Given the description of an element on the screen output the (x, y) to click on. 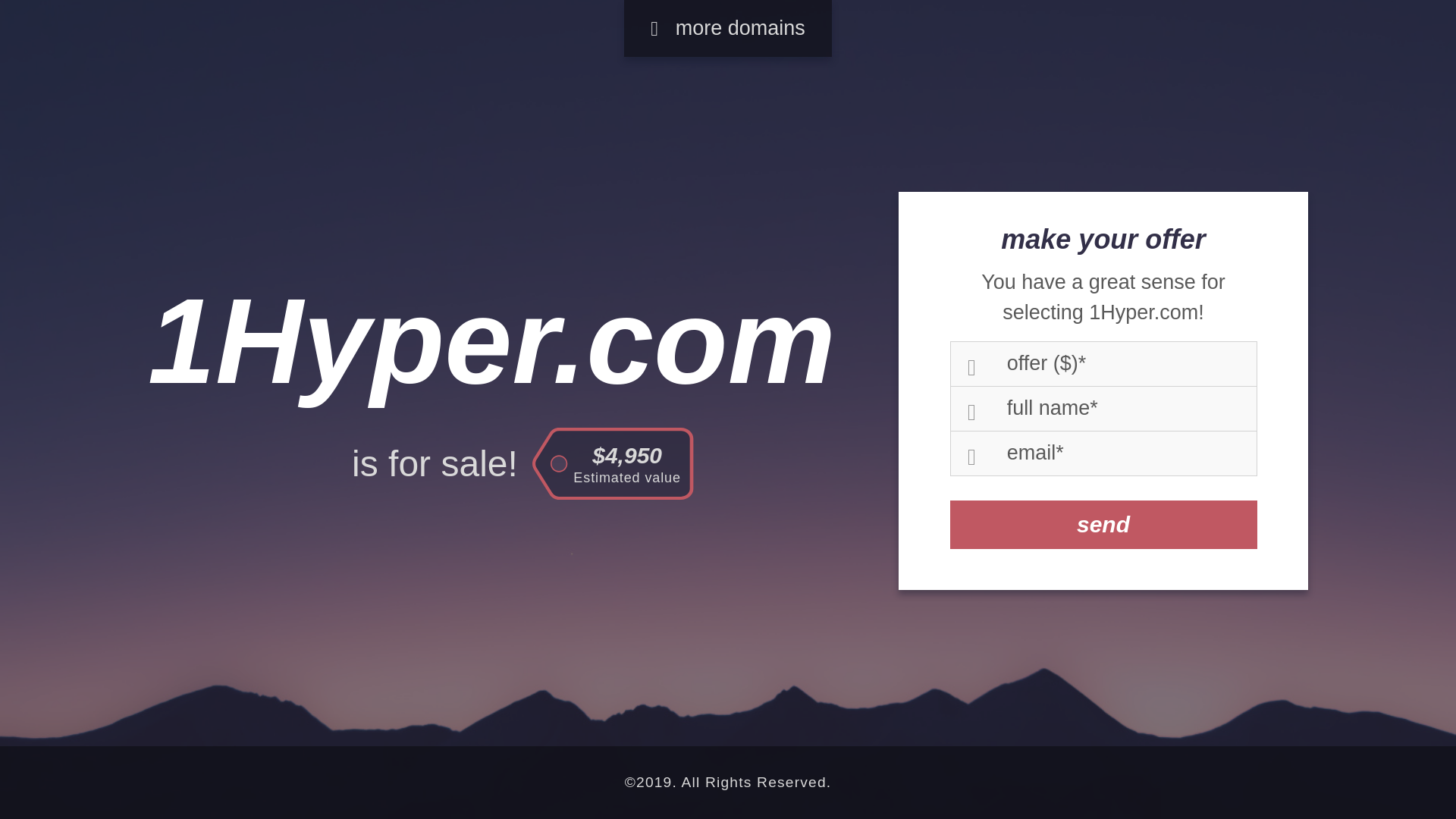
send Element type: text (1102, 524)
  more domains Element type: text (727, 28)
